Given the description of an element on the screen output the (x, y) to click on. 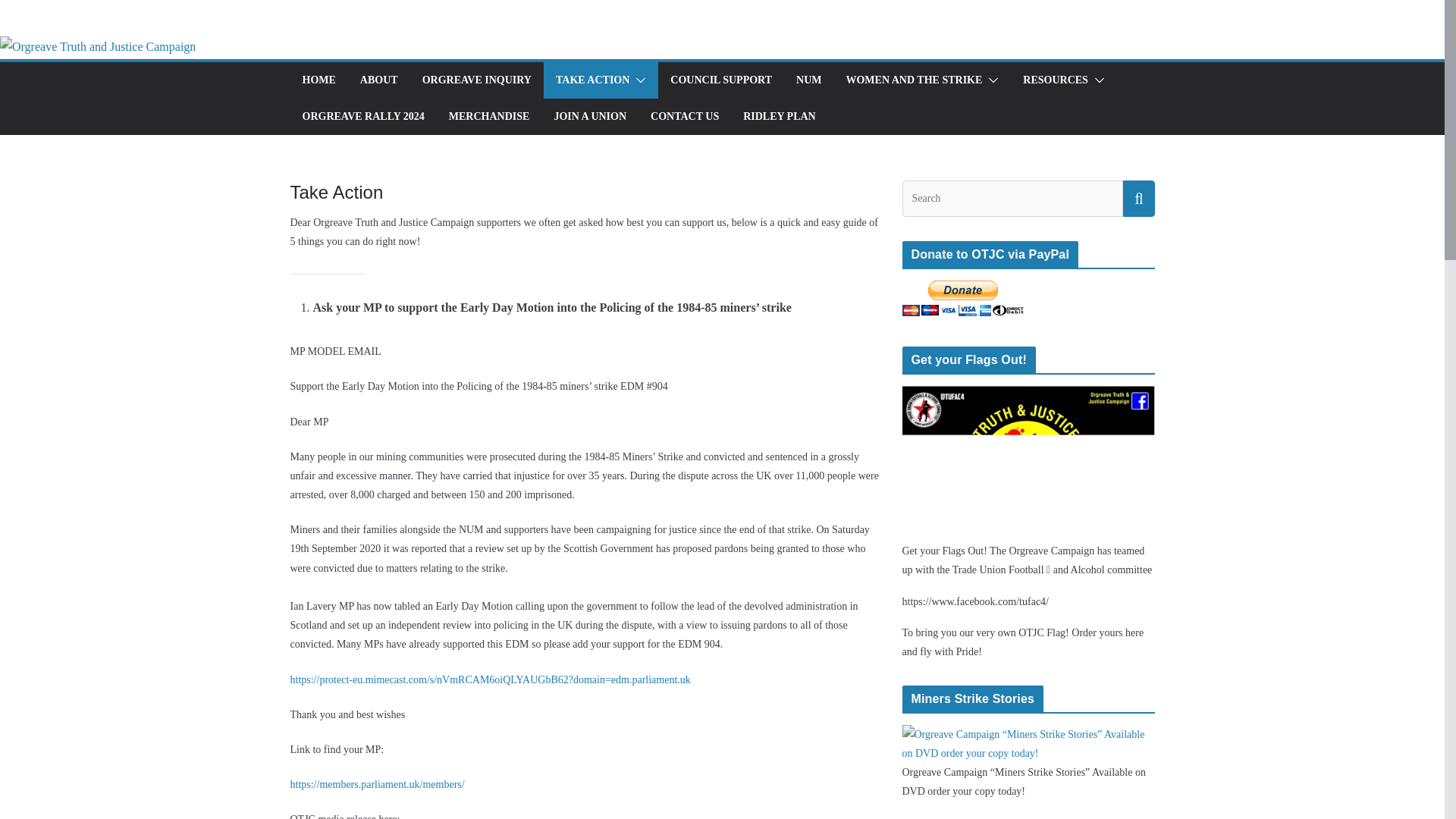
RESOURCES (1055, 79)
COUNCIL SUPPORT (720, 79)
Miners Strike Stories (1028, 734)
Orgreave Truth and Justice Campaign (97, 46)
NUM (808, 79)
ORGREAVE INQUIRY (476, 79)
Click here to order your flag (1028, 395)
PayPal - The safer, easier way to pay online! (962, 298)
WOMEN AND THE STRIKE (913, 79)
TAKE ACTION (592, 79)
